Given the description of an element on the screen output the (x, y) to click on. 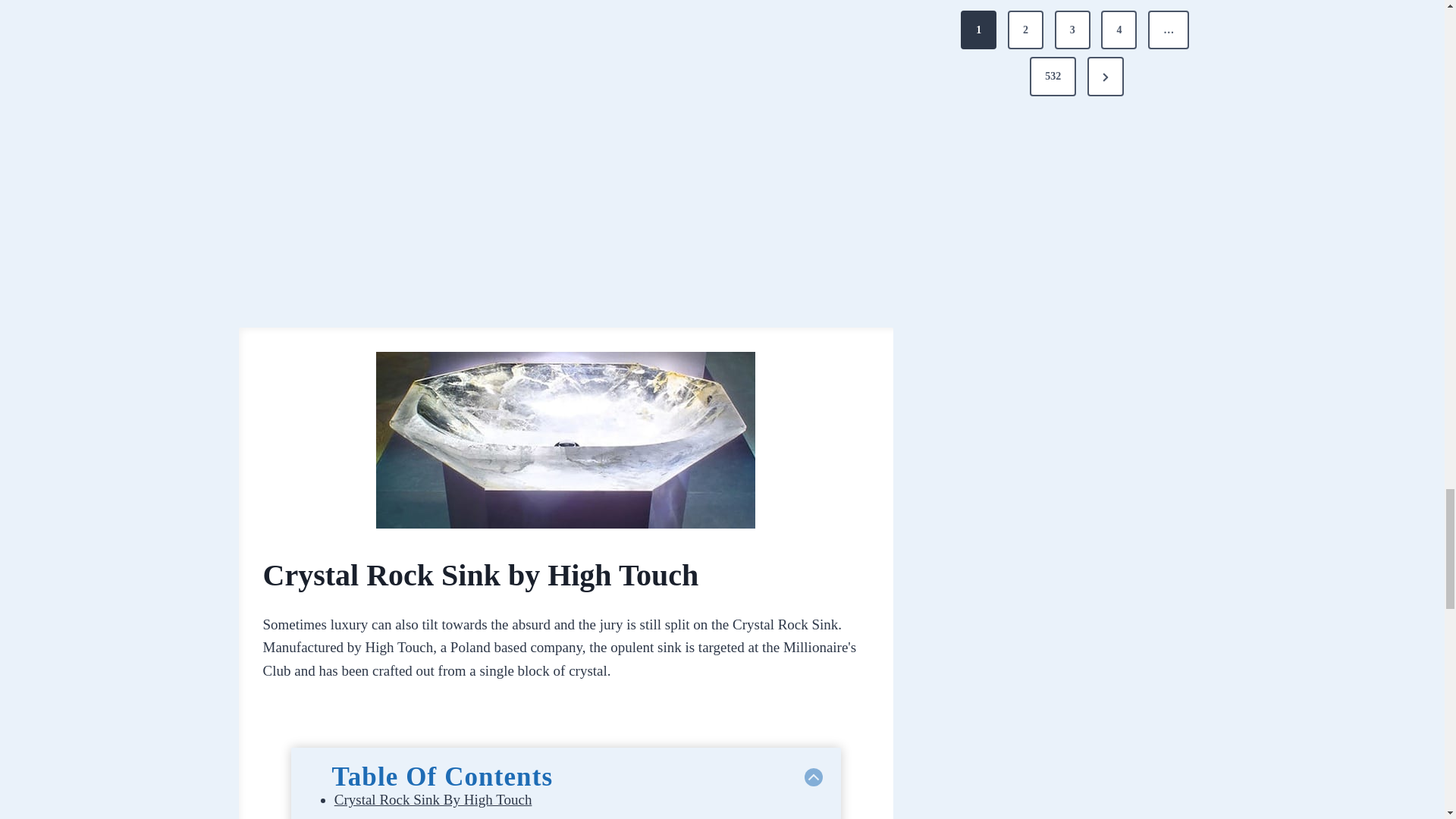
Crystal Rock Sink By High Touch (433, 799)
Crystal Rock Sink by High Touch 1 (565, 440)
